Given the description of an element on the screen output the (x, y) to click on. 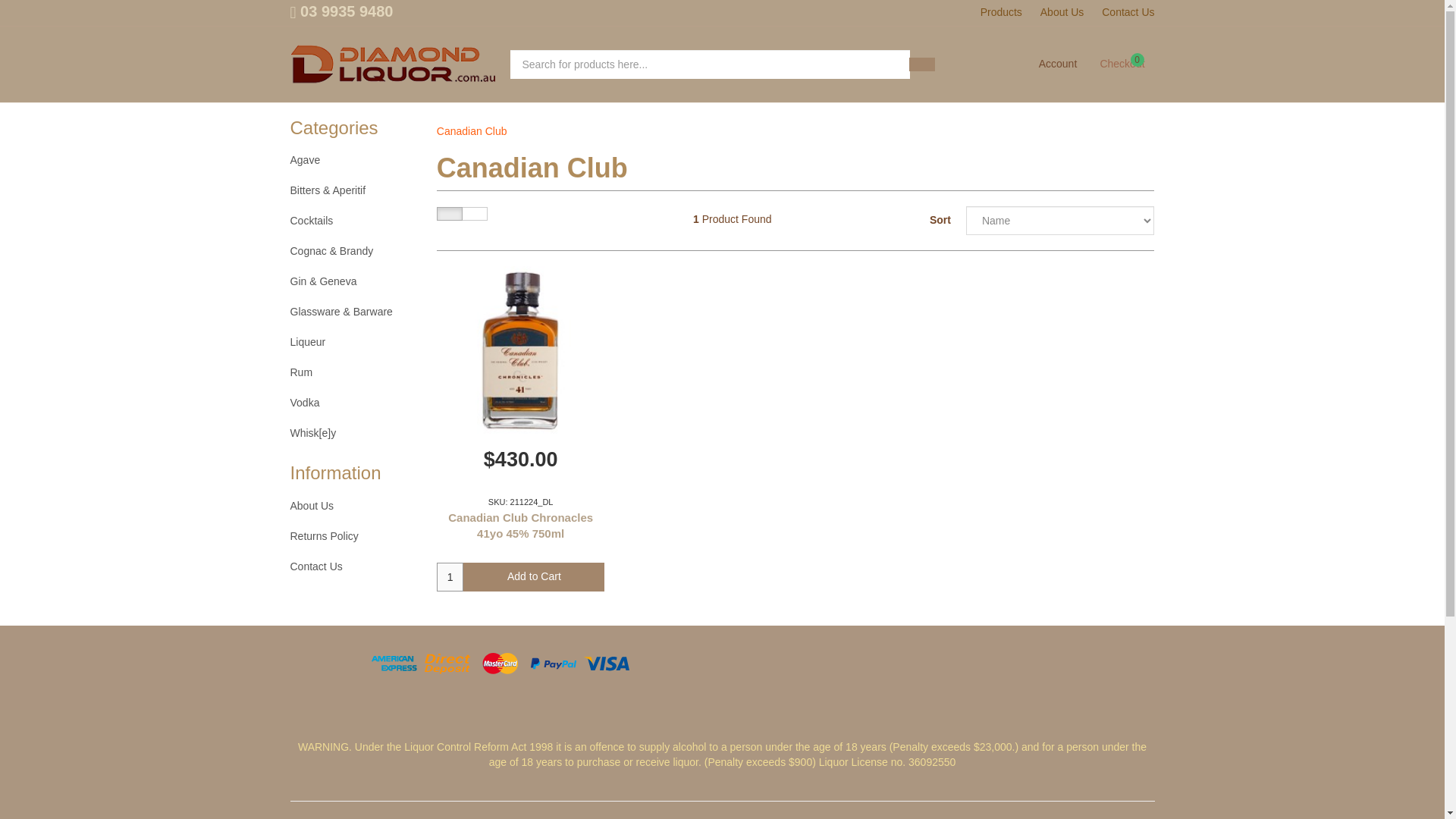
Search (921, 64)
Add to Cart (1122, 64)
Liqueur (533, 576)
Contact Us (354, 342)
Returns Policy (1128, 12)
About Us (354, 536)
Vodka (354, 506)
03 9935 9480 (354, 403)
Rum (341, 11)
Products (354, 372)
Account (1000, 12)
Cocktails (1057, 64)
1 (354, 221)
Agave (449, 576)
